Given the description of an element on the screen output the (x, y) to click on. 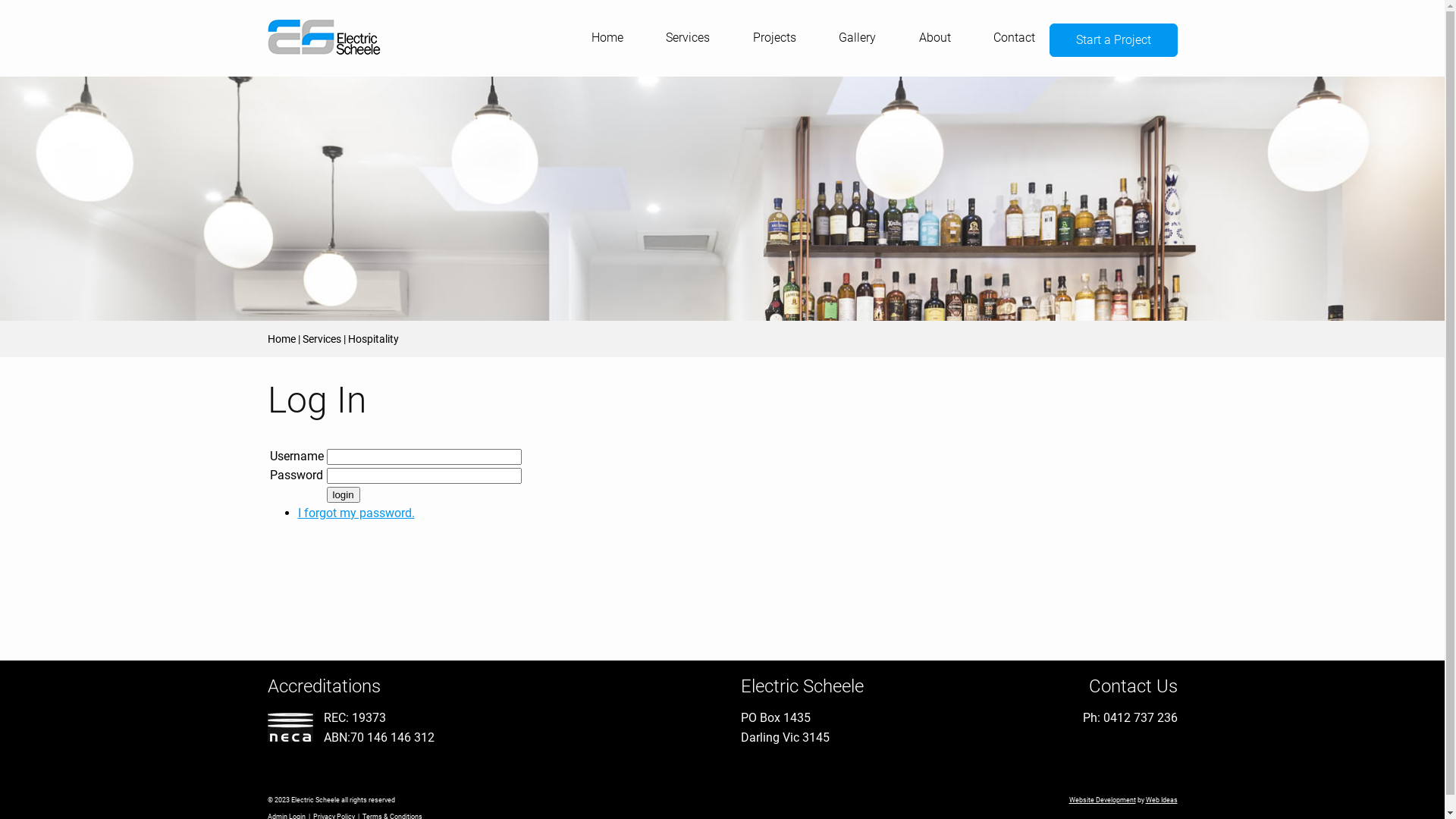
Website Development Element type: text (1102, 799)
Services Element type: text (320, 338)
Home Element type: text (606, 39)
Hospitality Element type: text (372, 338)
Contact Element type: text (1014, 39)
login Element type: text (342, 494)
Home Element type: text (280, 338)
Gallery Element type: text (857, 39)
0412 737 236 Element type: text (1139, 717)
I forgot my password. Element type: text (355, 512)
About Element type: text (934, 39)
Projects Element type: text (774, 39)
Start a Project Element type: text (1113, 39)
Web Ideas Element type: text (1160, 799)
Services Element type: text (687, 39)
